Given the description of an element on the screen output the (x, y) to click on. 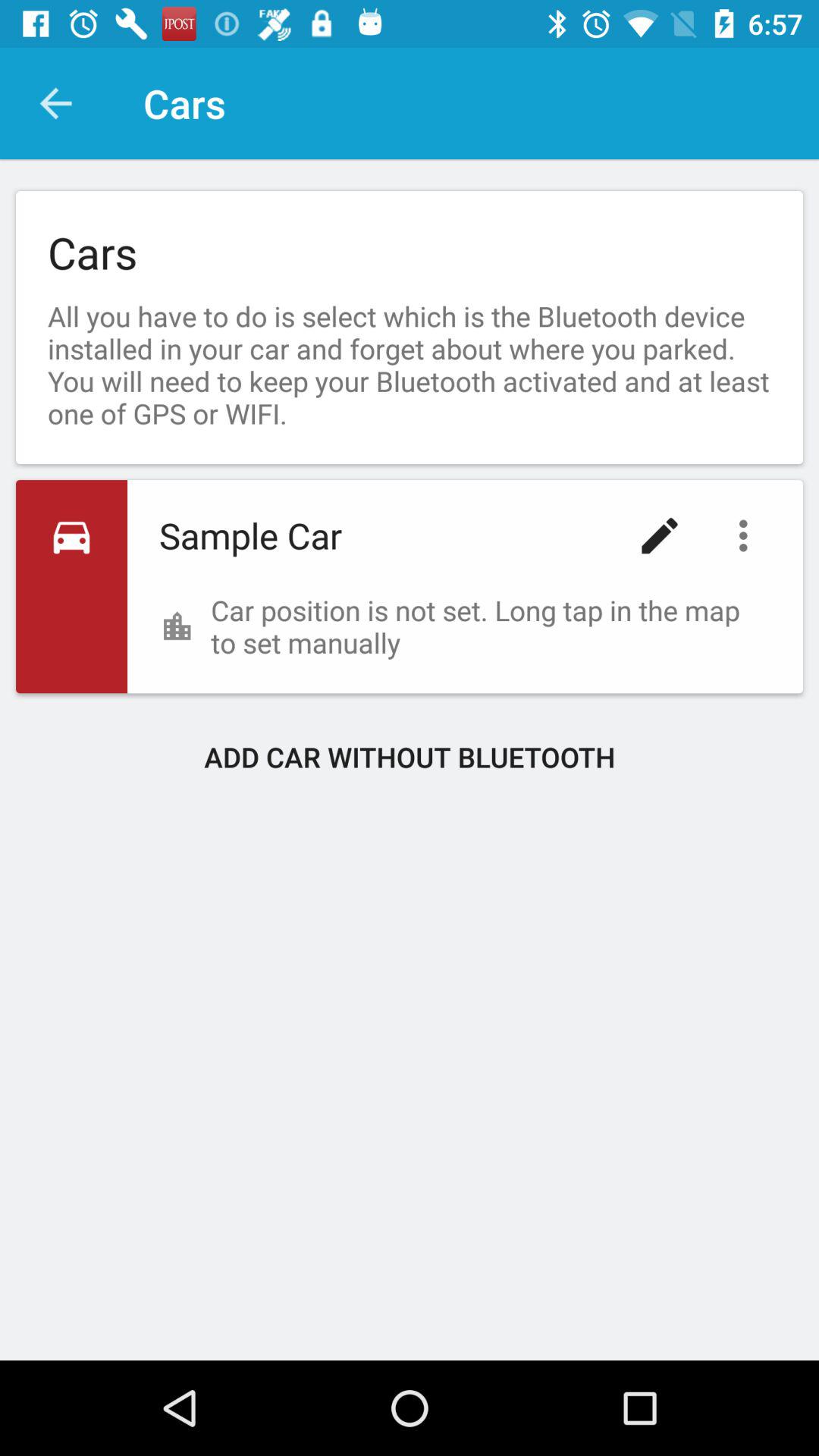
press icon above the car position is (659, 535)
